Given the description of an element on the screen output the (x, y) to click on. 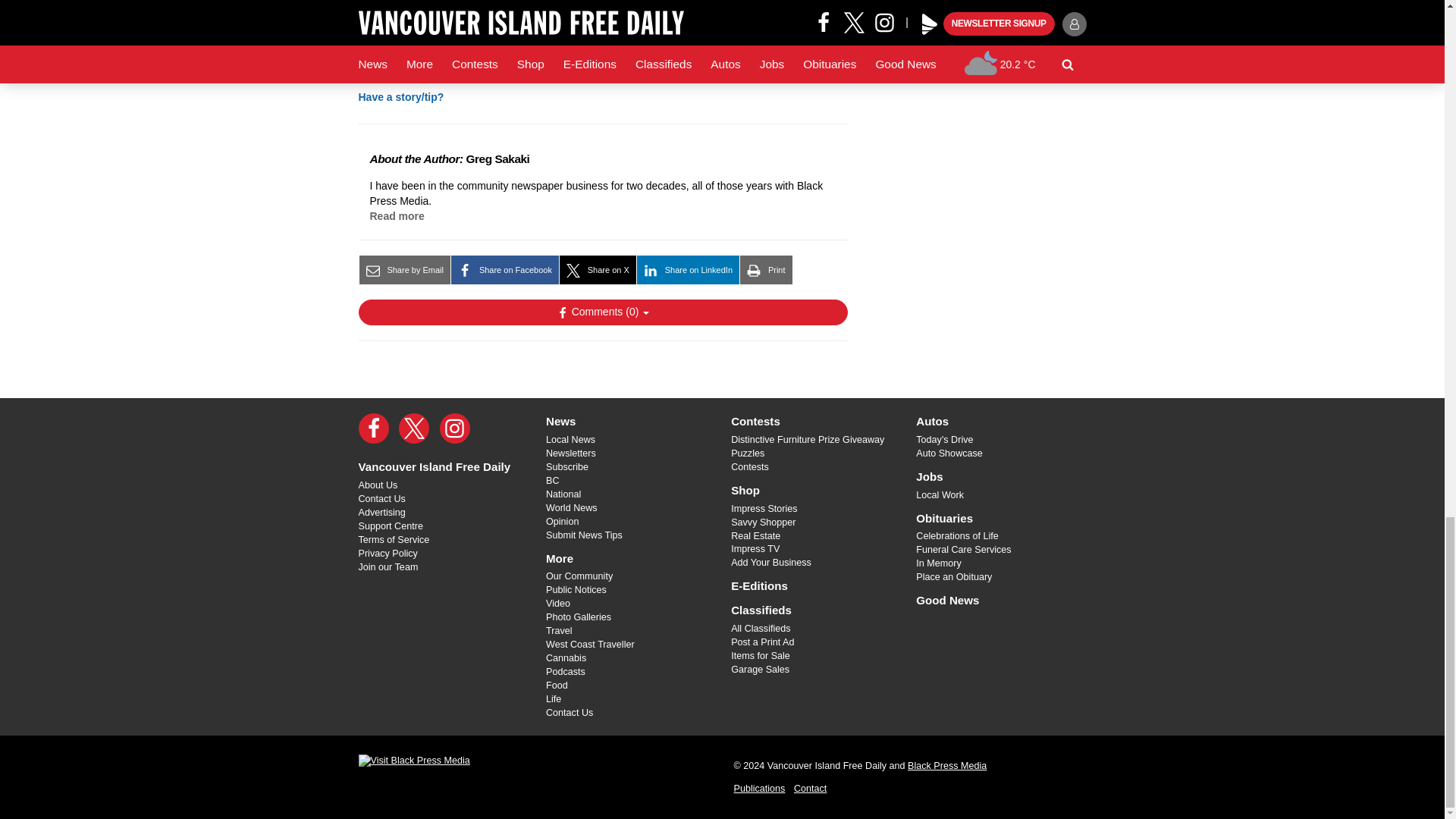
Show Comments (602, 312)
Facebook (373, 428)
X (413, 428)
Instagram (454, 428)
